Given the description of an element on the screen output the (x, y) to click on. 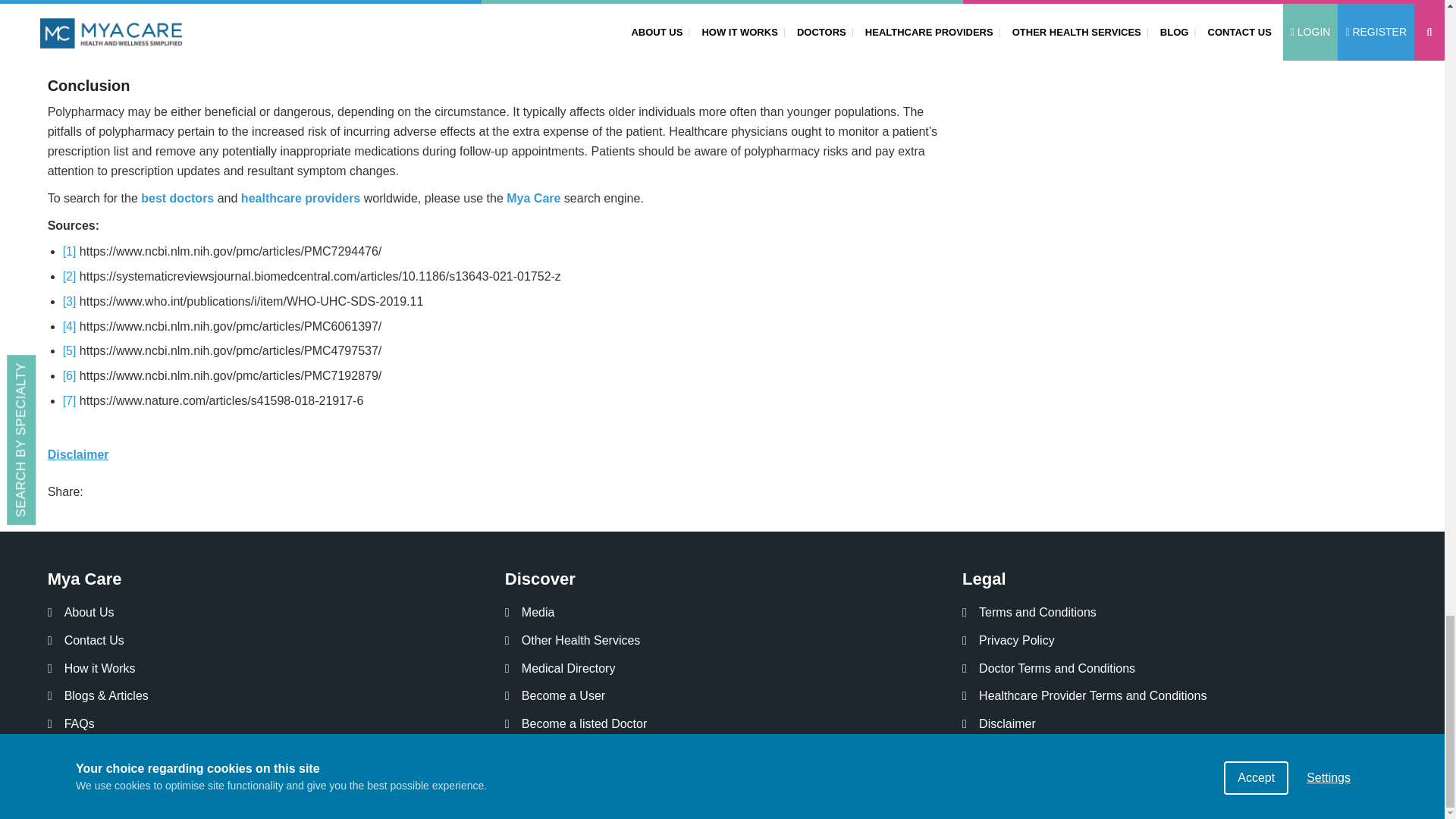
healthcare providers (300, 197)
Mya Care (533, 197)
best doctors (177, 197)
